Given the description of an element on the screen output the (x, y) to click on. 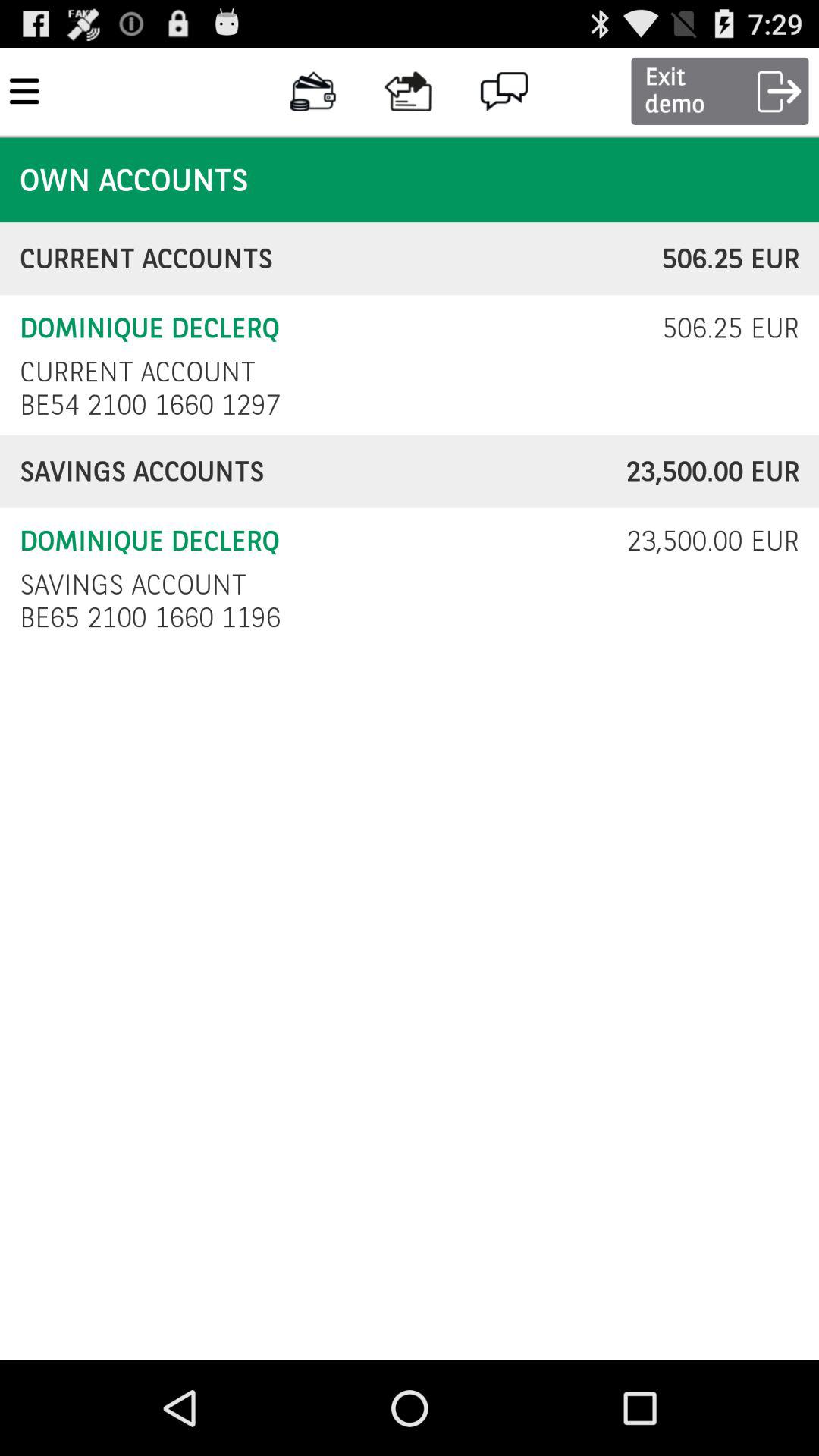
swipe until the current account icon (137, 371)
